Given the description of an element on the screen output the (x, y) to click on. 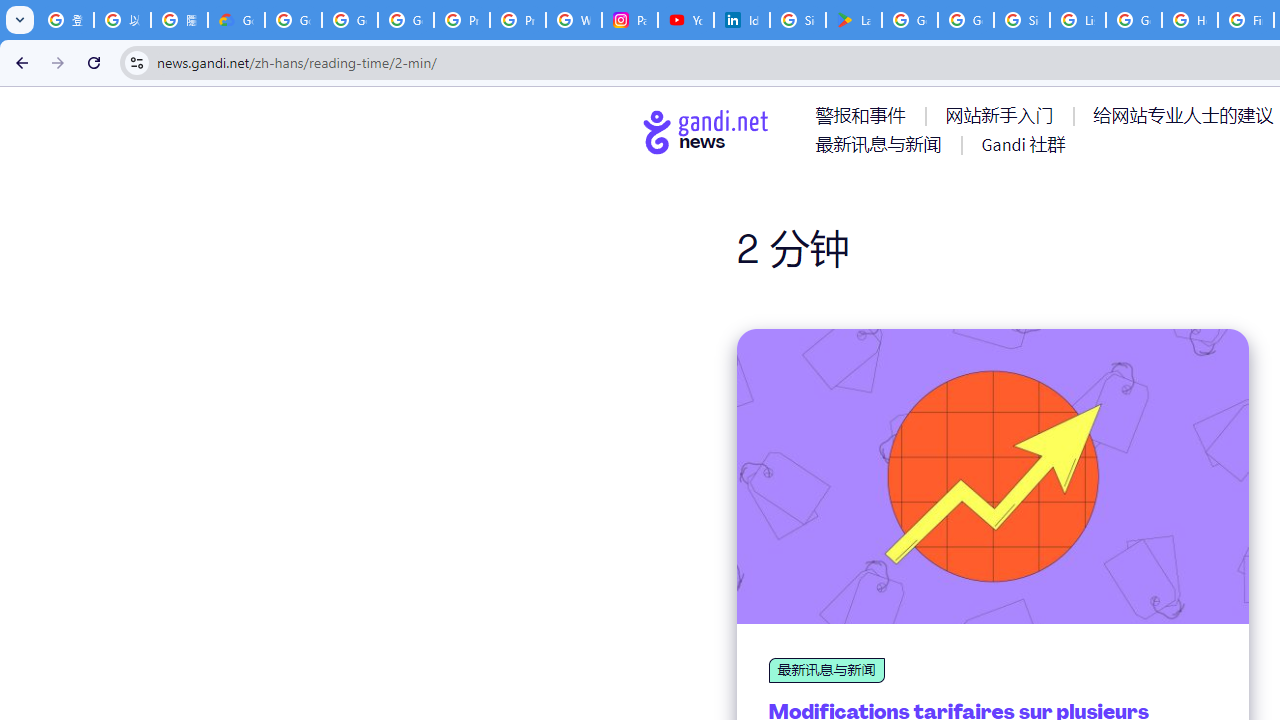
AutomationID: menu-item-77766 (882, 143)
Go to home (706, 131)
Sign in - Google Accounts (1021, 20)
Google Workspace - Specific Terms (966, 20)
